Given the description of an element on the screen output the (x, y) to click on. 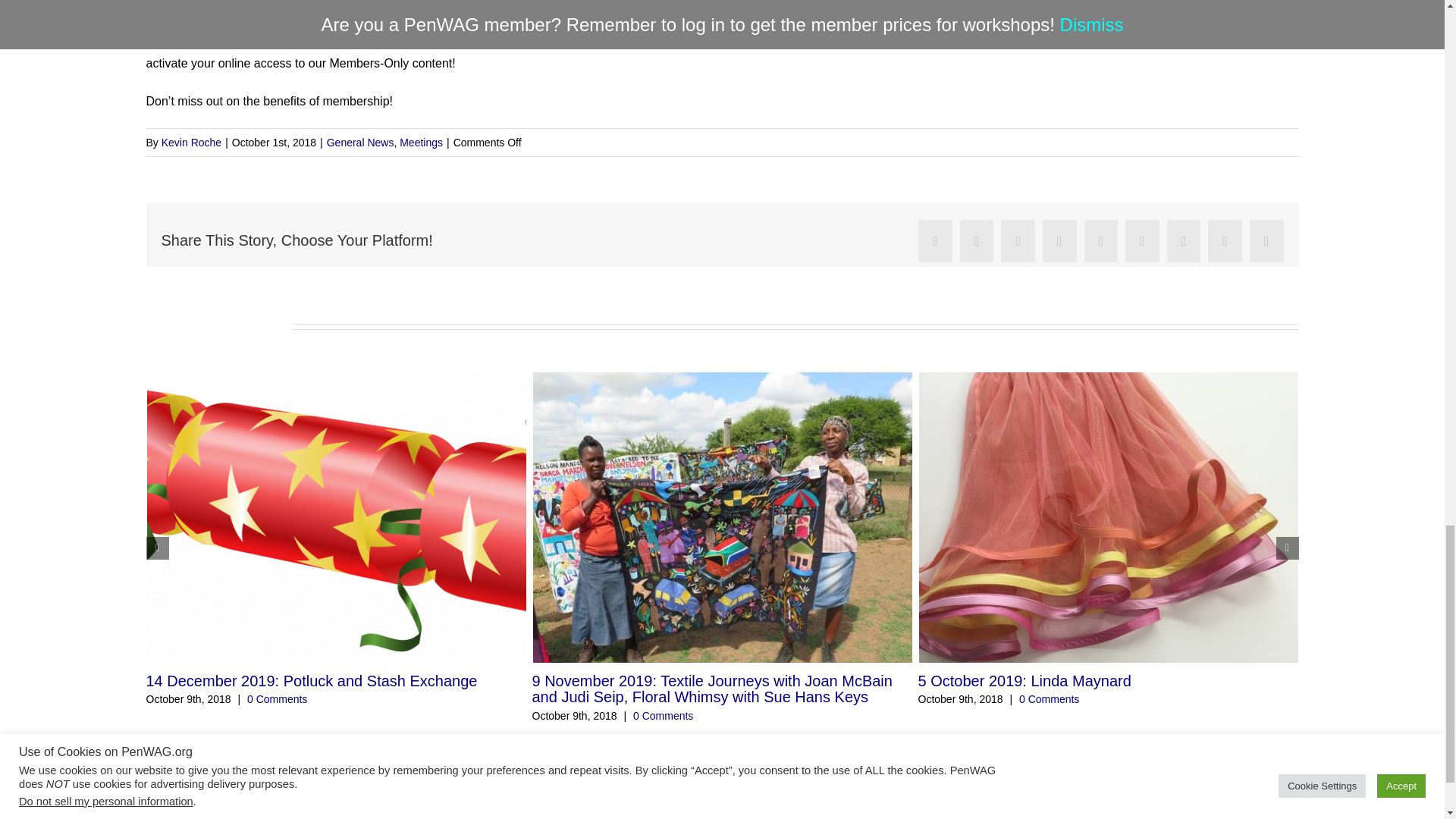
14 December 2019: Potluck and Stash Exchange (311, 680)
Posts by Kevin Roche (191, 142)
